Given the description of an element on the screen output the (x, y) to click on. 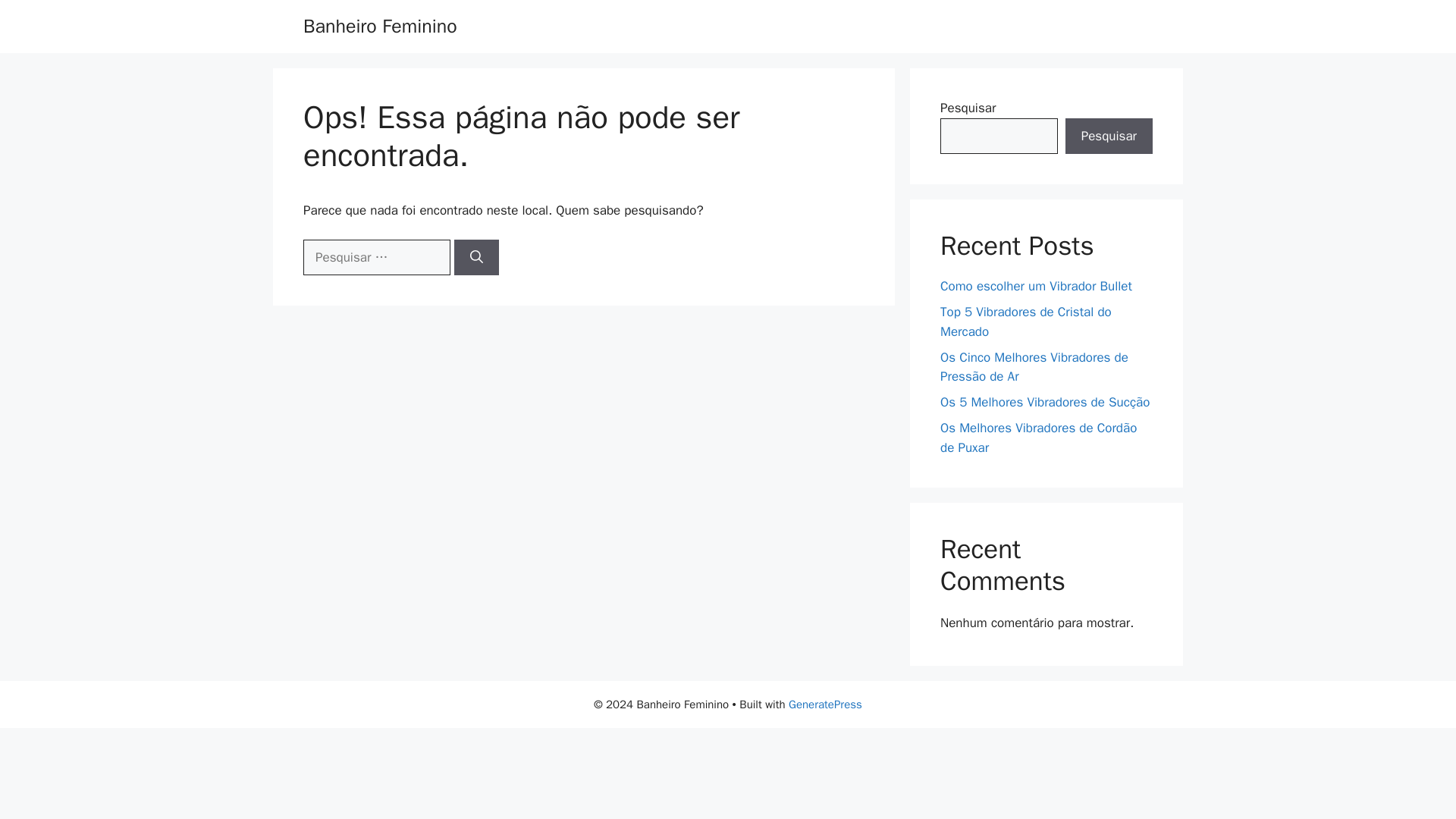
Banheiro Feminino (379, 25)
Pesquisar (1109, 135)
Como escolher um Vibrador Bullet (1036, 286)
Top 5 Vibradores de Cristal do Mercado (1026, 321)
GeneratePress (825, 704)
Pesquisar por: (375, 257)
